Given the description of an element on the screen output the (x, y) to click on. 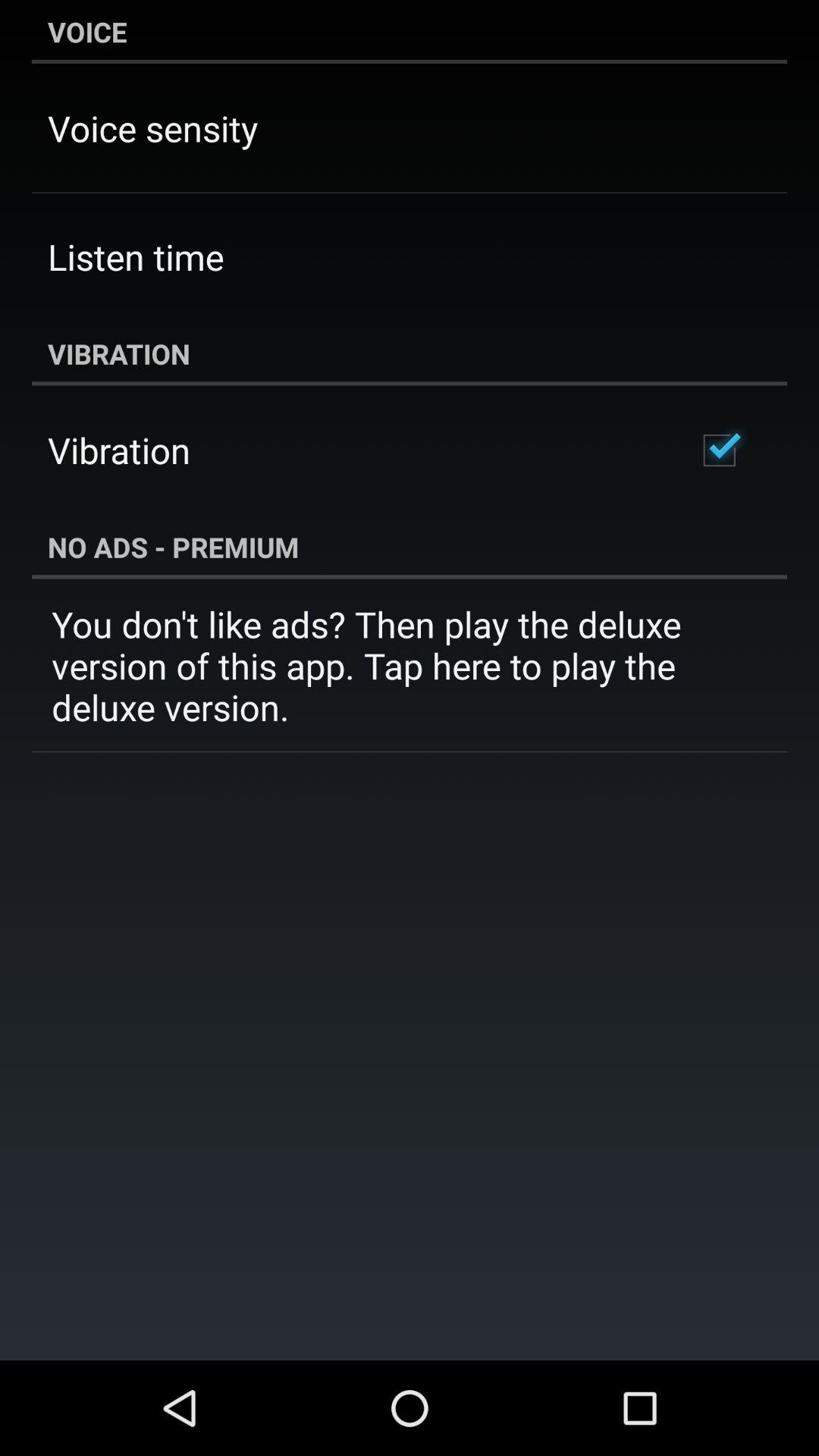
launch item below the no ads - premium item (409, 665)
